Given the description of an element on the screen output the (x, y) to click on. 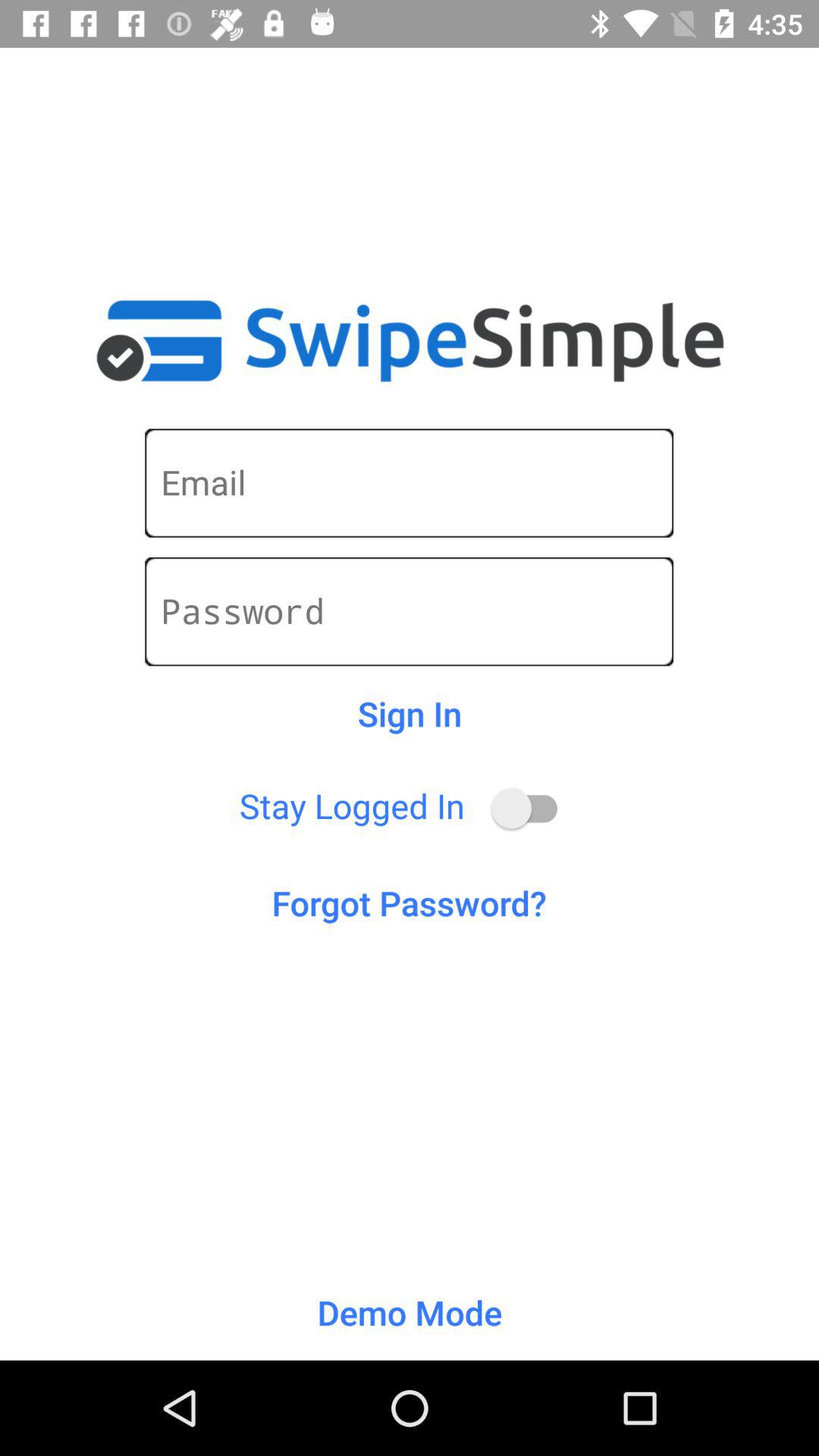
toggle logged in option (531, 808)
